Given the description of an element on the screen output the (x, y) to click on. 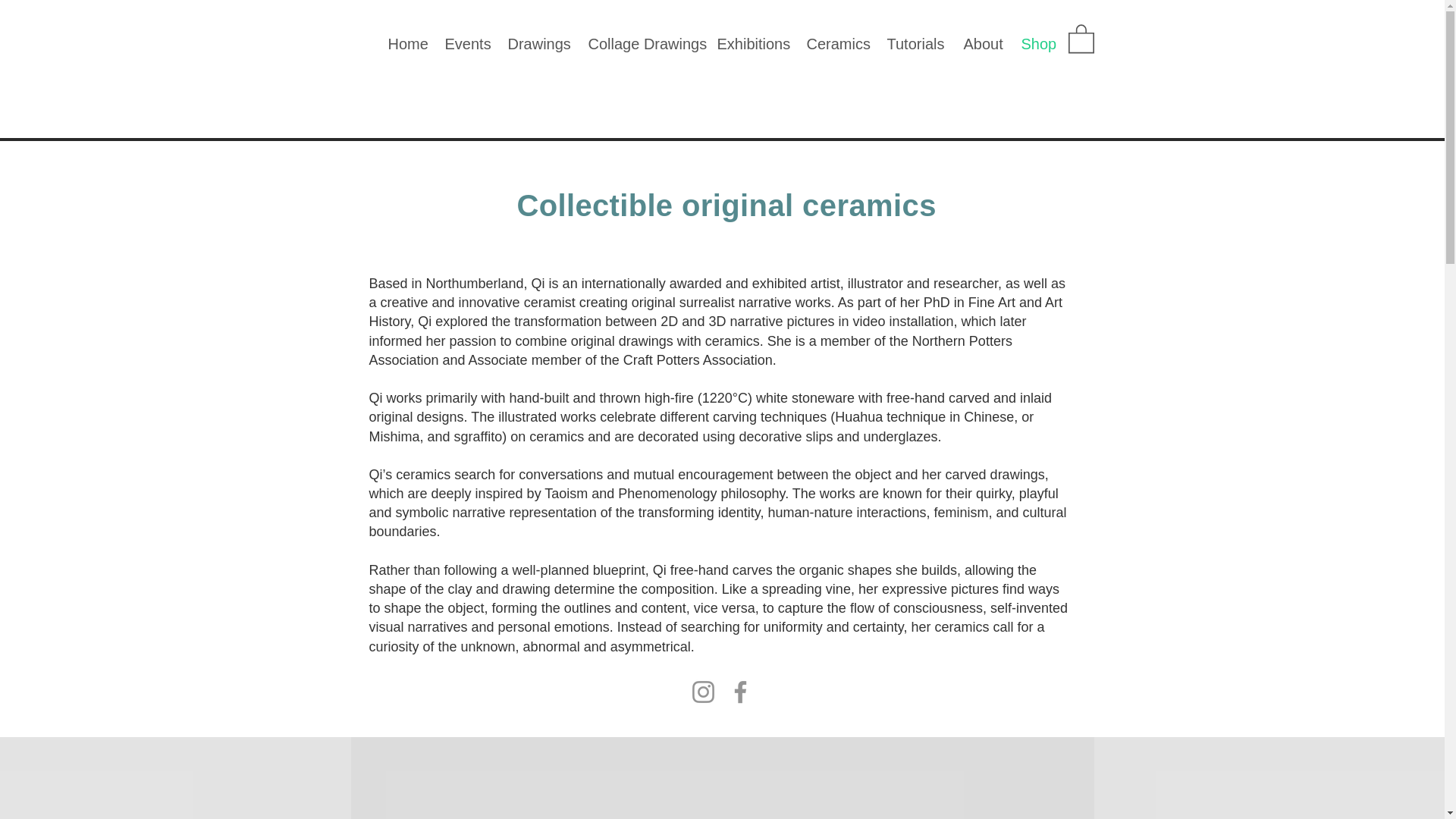
About (981, 44)
Collage Drawings (640, 44)
Ceramics (834, 44)
Shop (1036, 44)
Home (403, 44)
Exhibitions (749, 44)
Tutorials (913, 44)
Drawings (536, 44)
Events (464, 44)
